Given the description of an element on the screen output the (x, y) to click on. 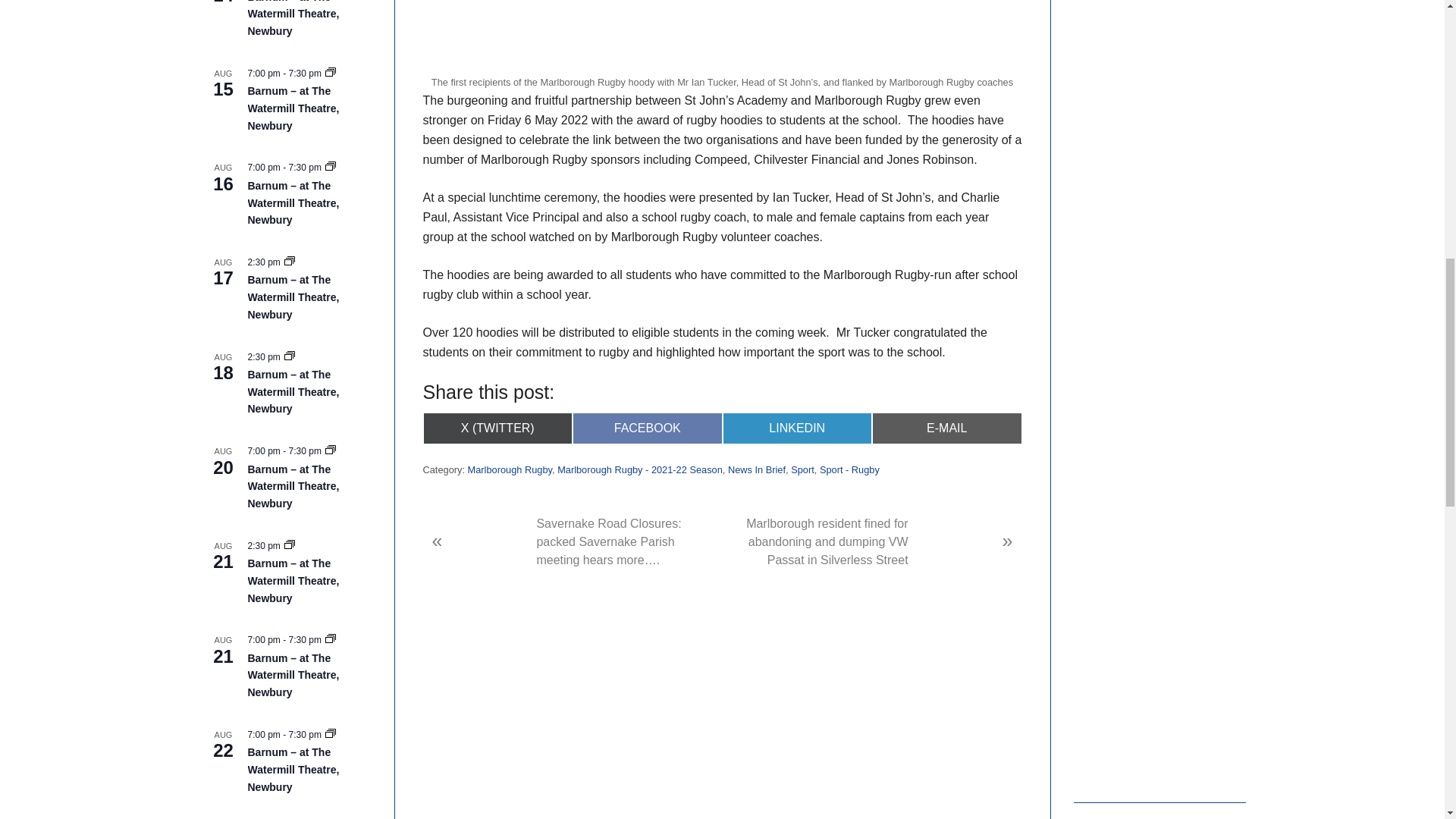
Event Series (330, 167)
Event Series (289, 262)
Event Series (330, 72)
